Given the description of an element on the screen output the (x, y) to click on. 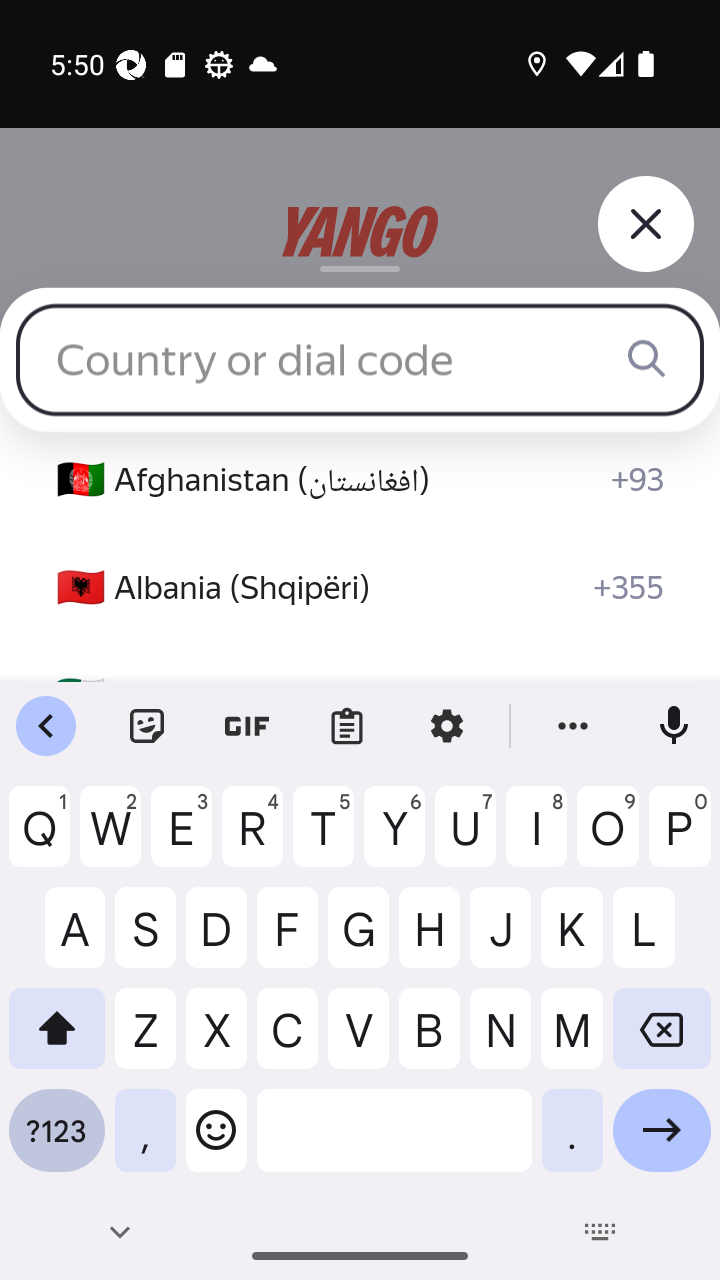
logo (359, 231)
🇦🇫 Afghanistan (‫افغانستان‬‎) +93 (359, 479)
🇦🇱 Albania (Shqipëri) +355 (359, 588)
